Given the description of an element on the screen output the (x, y) to click on. 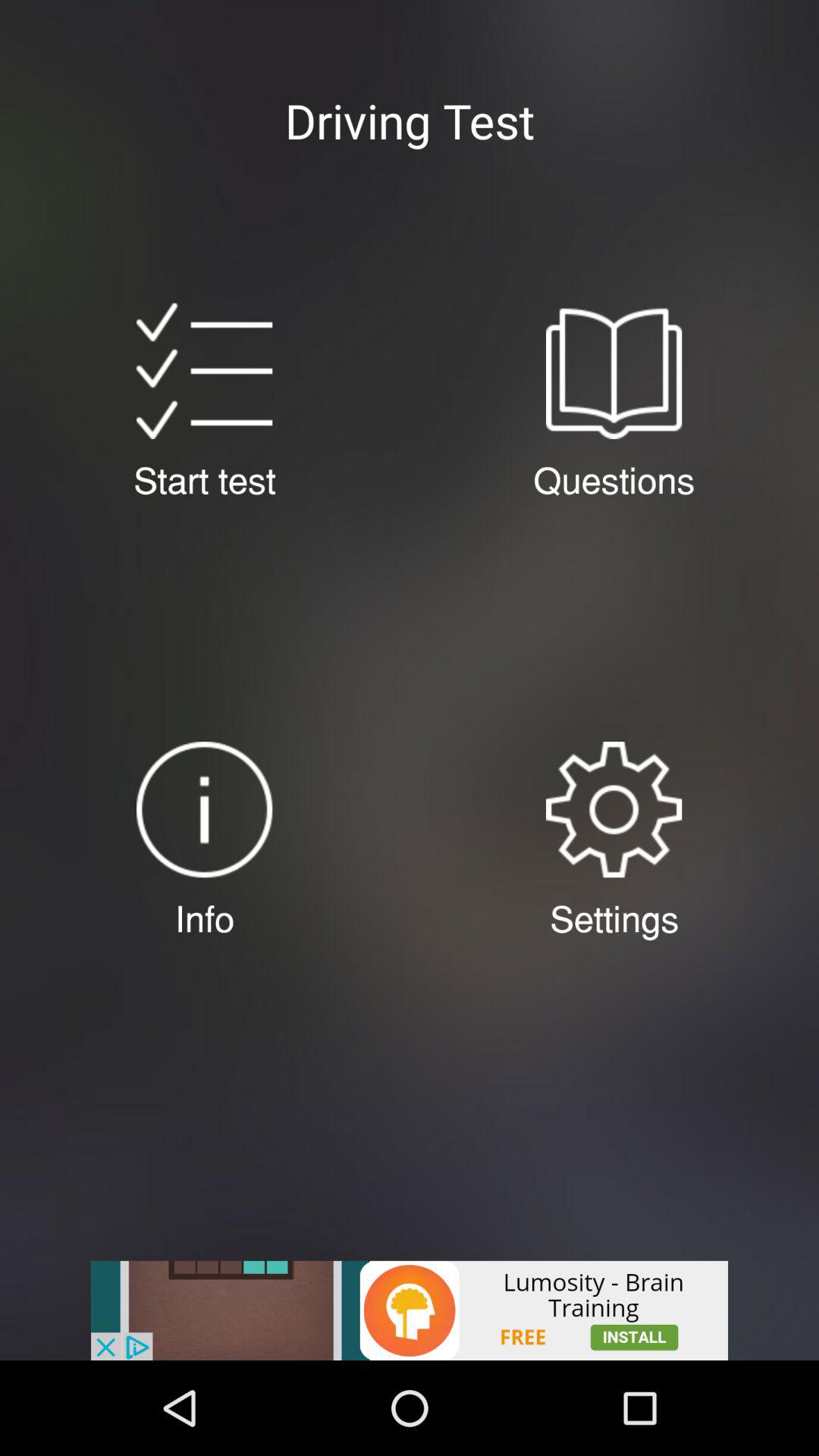
select advertisement (409, 1310)
